Given the description of an element on the screen output the (x, y) to click on. 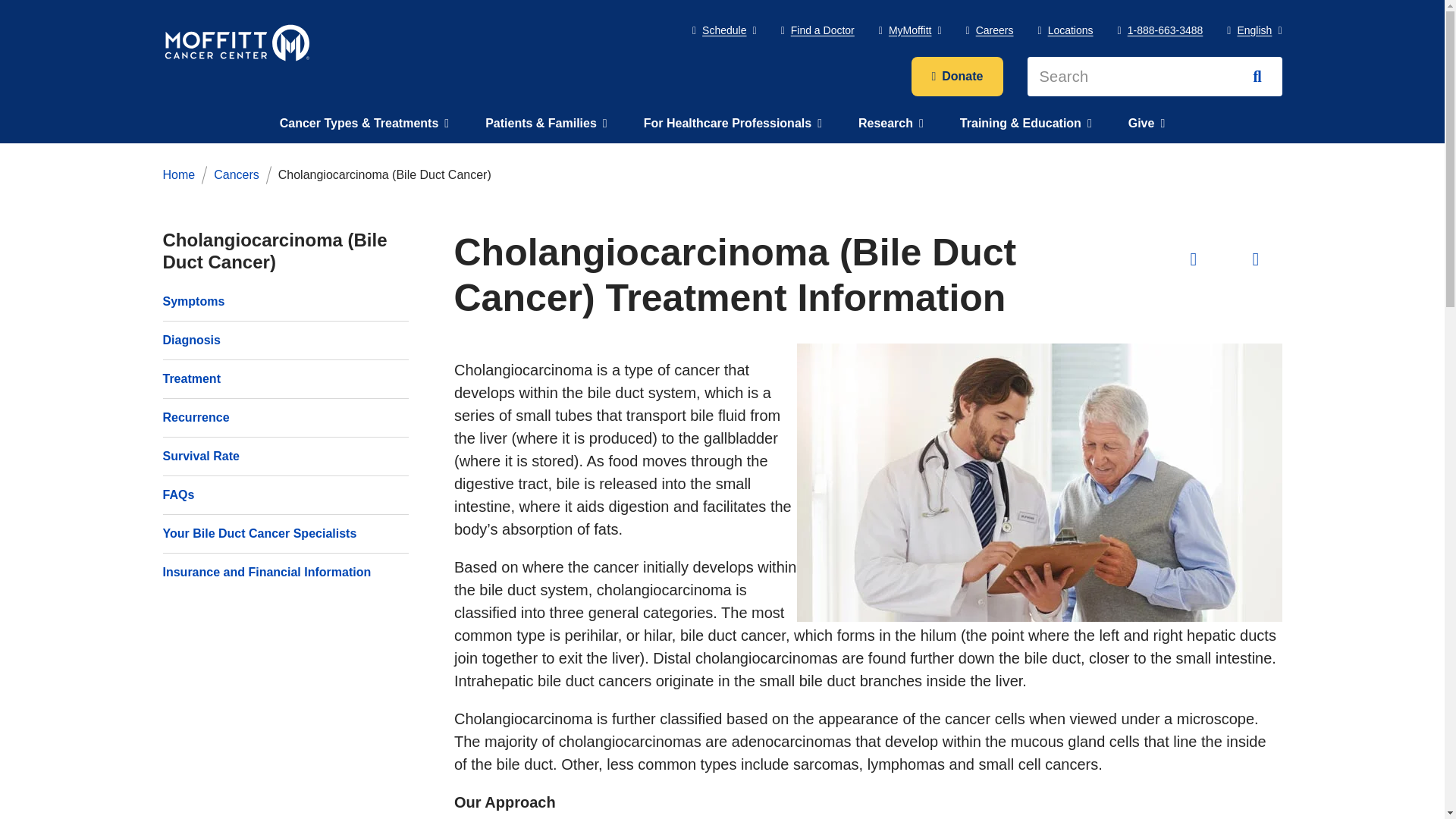
Locations (1064, 30)
Schedule (725, 30)
Careers (989, 30)
MyMoffitt (910, 30)
1-888-663-3488 (1161, 30)
Donate (957, 76)
Locations (1064, 30)
Careers (989, 30)
Find a Doctor (817, 30)
